Given the description of an element on the screen output the (x, y) to click on. 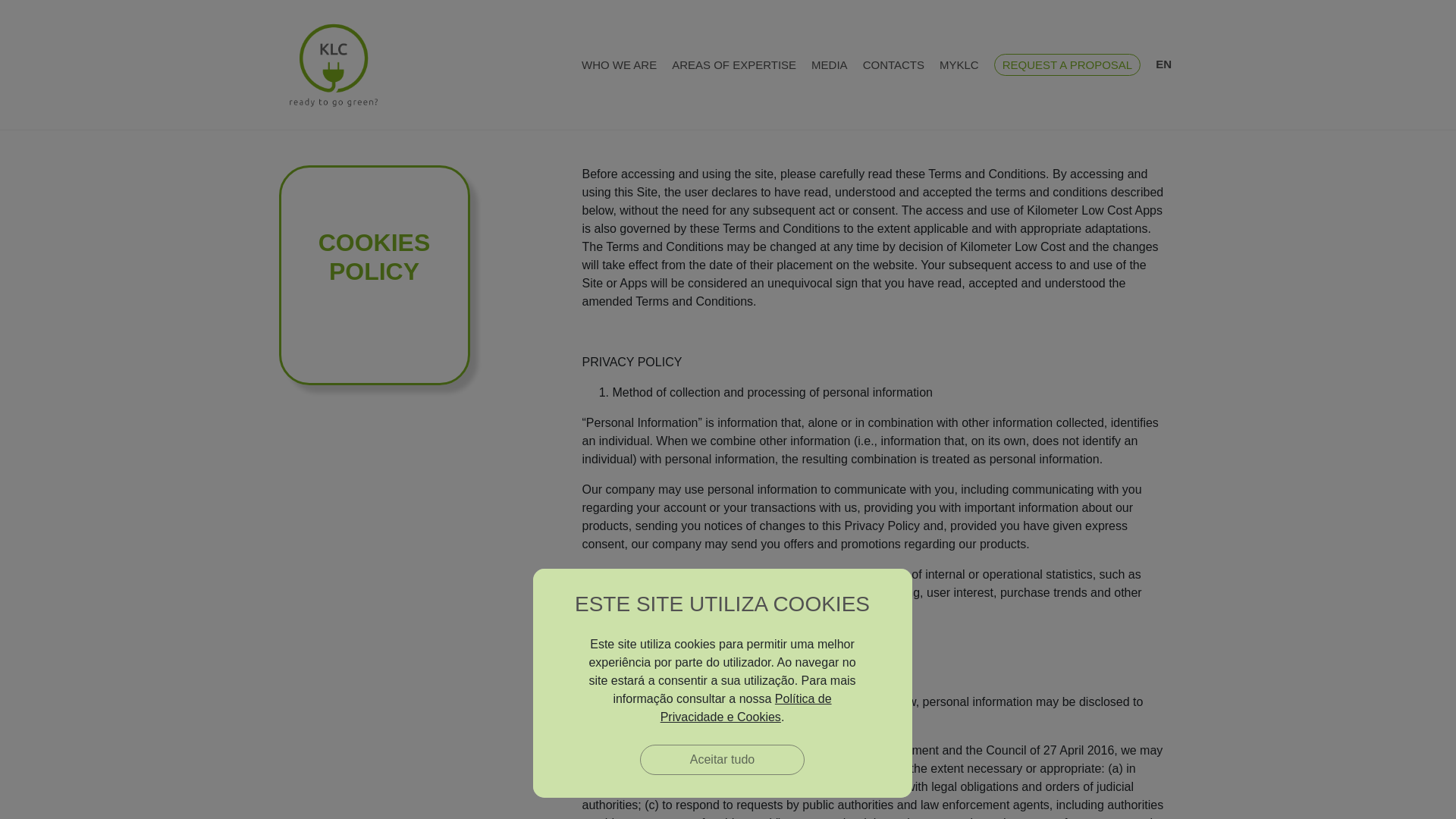
AREAS OF EXPERTISE (733, 63)
MEDIA (828, 63)
EN (1164, 64)
EN (1164, 64)
REQUEST A PROPOSAL (1067, 64)
CONTACTS (893, 63)
WHO WE ARE (618, 63)
MYKLC (958, 63)
